Given the description of an element on the screen output the (x, y) to click on. 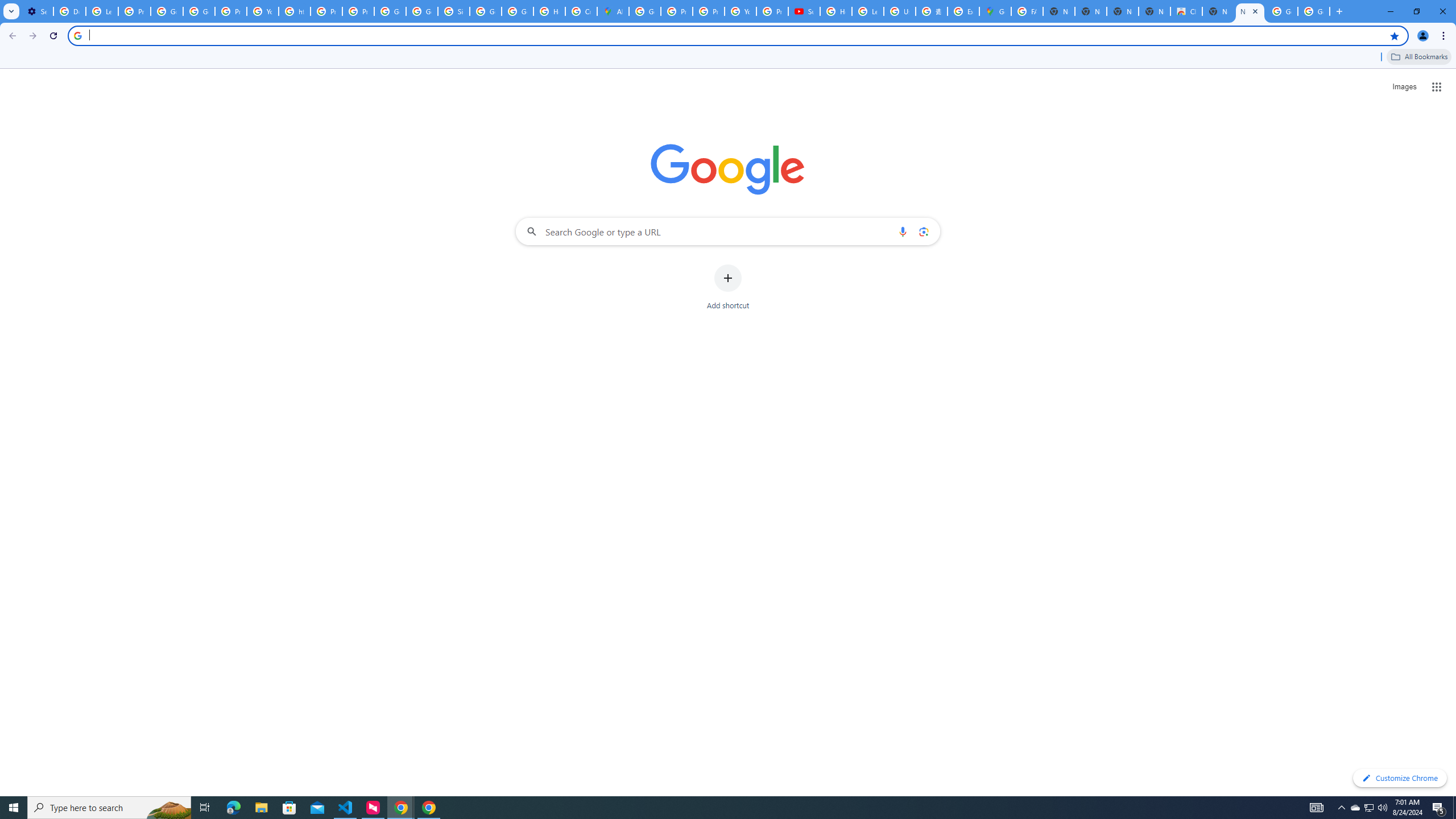
Privacy Help Center - Policies Help (676, 11)
Privacy Help Center - Policies Help (708, 11)
Privacy Help Center - Policies Help (326, 11)
New Tab (1249, 11)
